Given the description of an element on the screen output the (x, y) to click on. 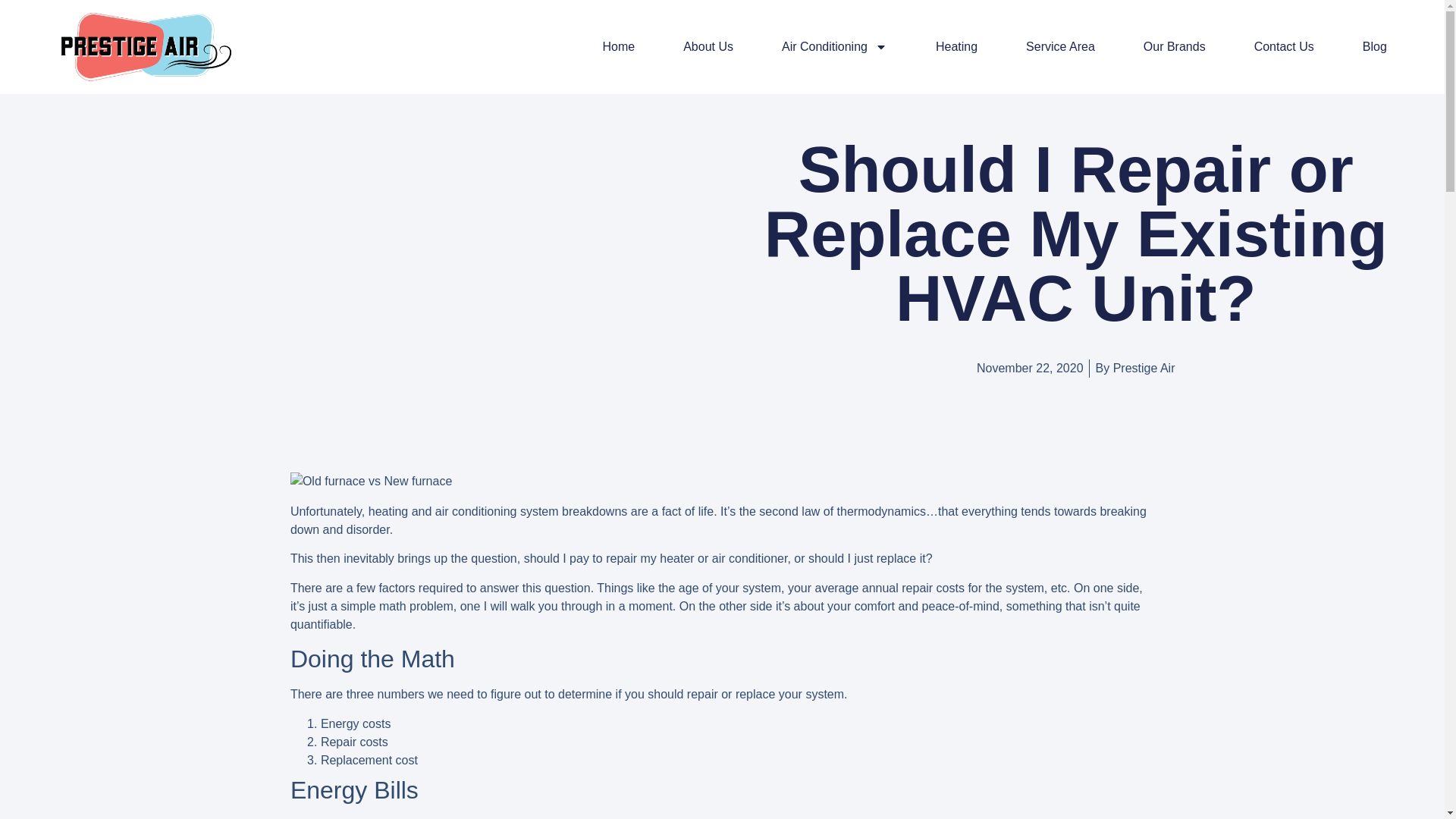
Air Conditioning (833, 46)
About Us (707, 46)
Blog (1374, 46)
Our Brands (1173, 46)
Contact Us (1283, 46)
Heating (956, 46)
Home (618, 46)
Service Area (1060, 46)
